Given the description of an element on the screen output the (x, y) to click on. 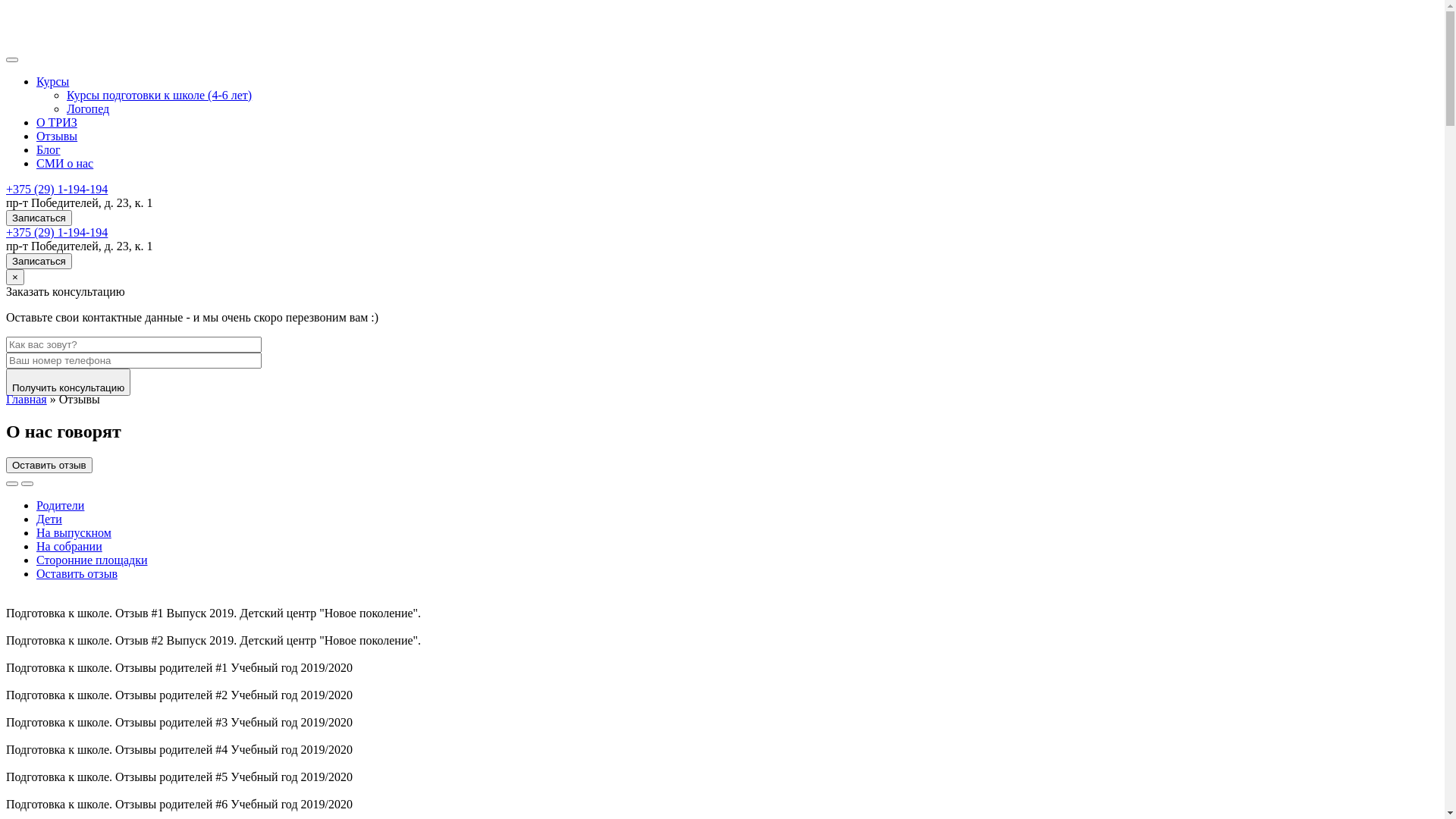
+375 (29) 1-194-194 Element type: text (56, 188)
+375 (29) 1-194-194 Element type: text (56, 231)
